Given the description of an element on the screen output the (x, y) to click on. 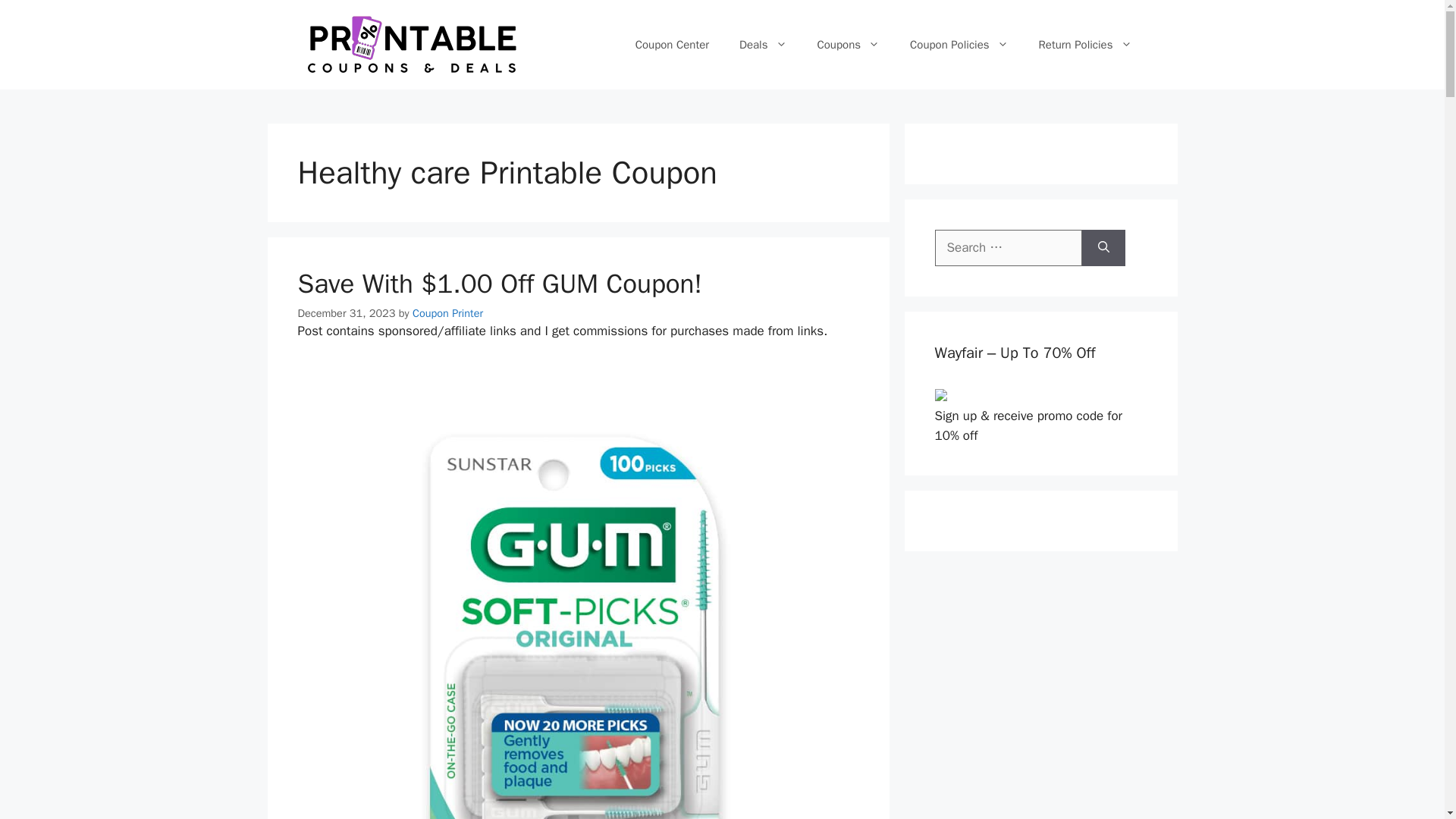
Search for: (1007, 248)
Coupons (848, 44)
Deals (762, 44)
Coupon Center (671, 44)
View all posts by Coupon Printer (447, 313)
